Given the description of an element on the screen output the (x, y) to click on. 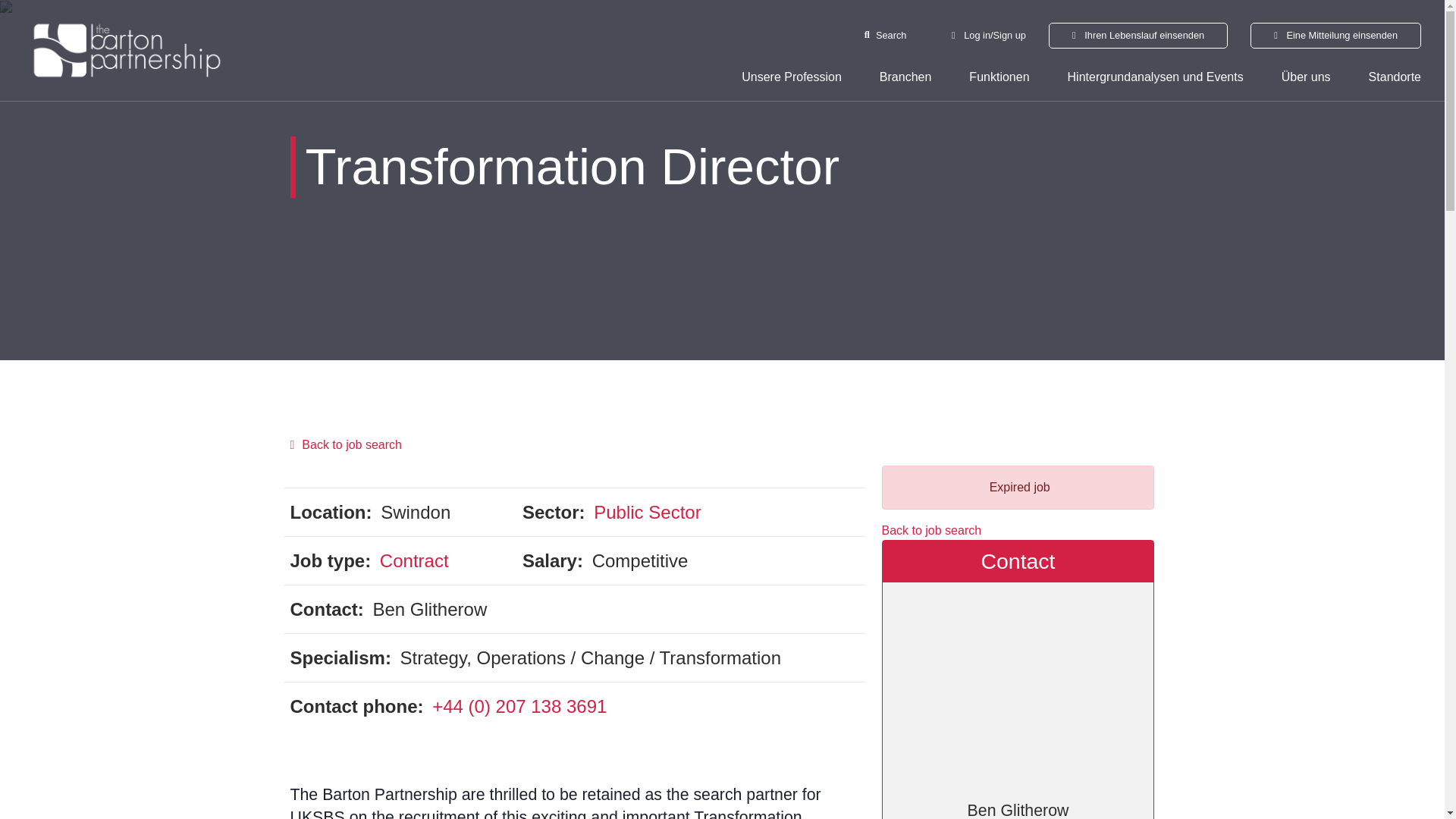
Back to job search (930, 530)
Back to job search (721, 444)
Contract (414, 560)
Eine Mitteilung einsenden (1335, 35)
Unsere Profession (791, 76)
Standorte (1394, 76)
Ben Glitherow (1018, 700)
Branchen (905, 76)
Ihren Lebenslauf einsenden (1137, 35)
Public Sector (647, 512)
